Given the description of an element on the screen output the (x, y) to click on. 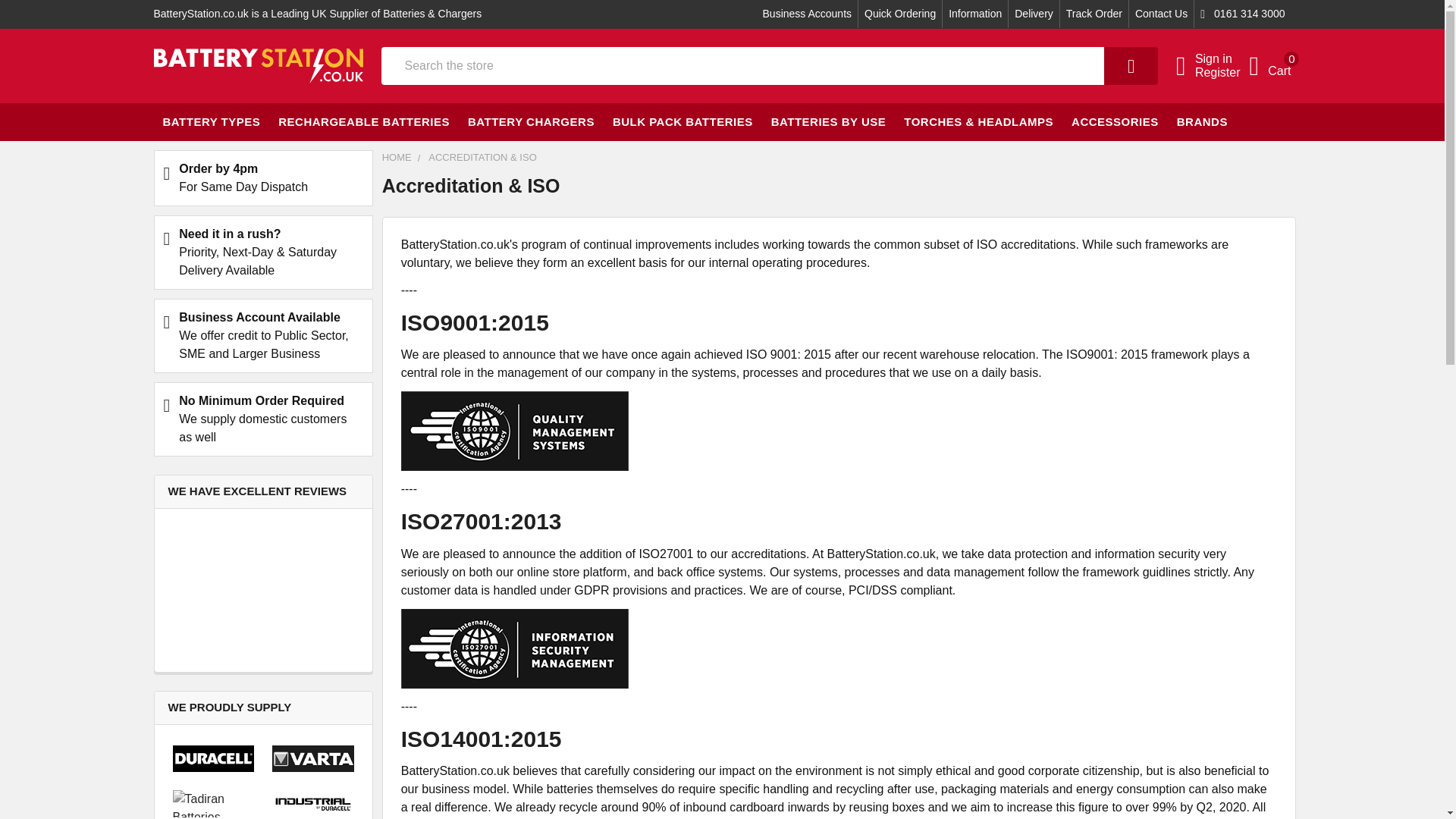
information-security-management-black.png (514, 648)
Information (974, 13)
Register (1217, 72)
Business Accounts (808, 13)
Sign in (1217, 59)
qms-small.png (514, 430)
Contact Us (1269, 66)
Track Order (1161, 13)
Search (1093, 13)
